Given the description of an element on the screen output the (x, y) to click on. 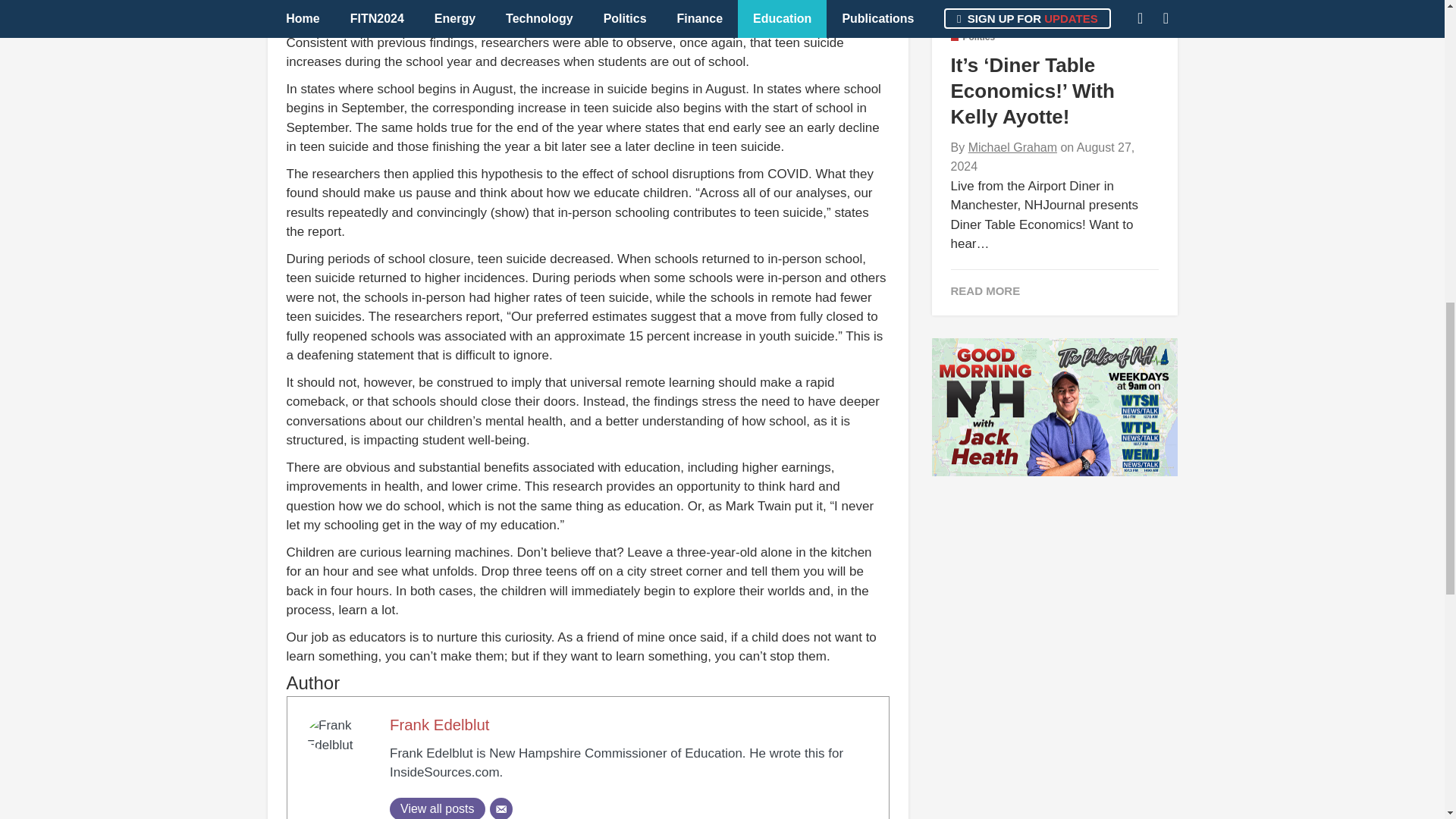
View all posts in Politics (972, 36)
View all posts (437, 808)
Posts by Michael Graham (1012, 146)
Frank Edelblut (439, 724)
View all posts (437, 808)
Frank Edelblut (439, 724)
